Given the description of an element on the screen output the (x, y) to click on. 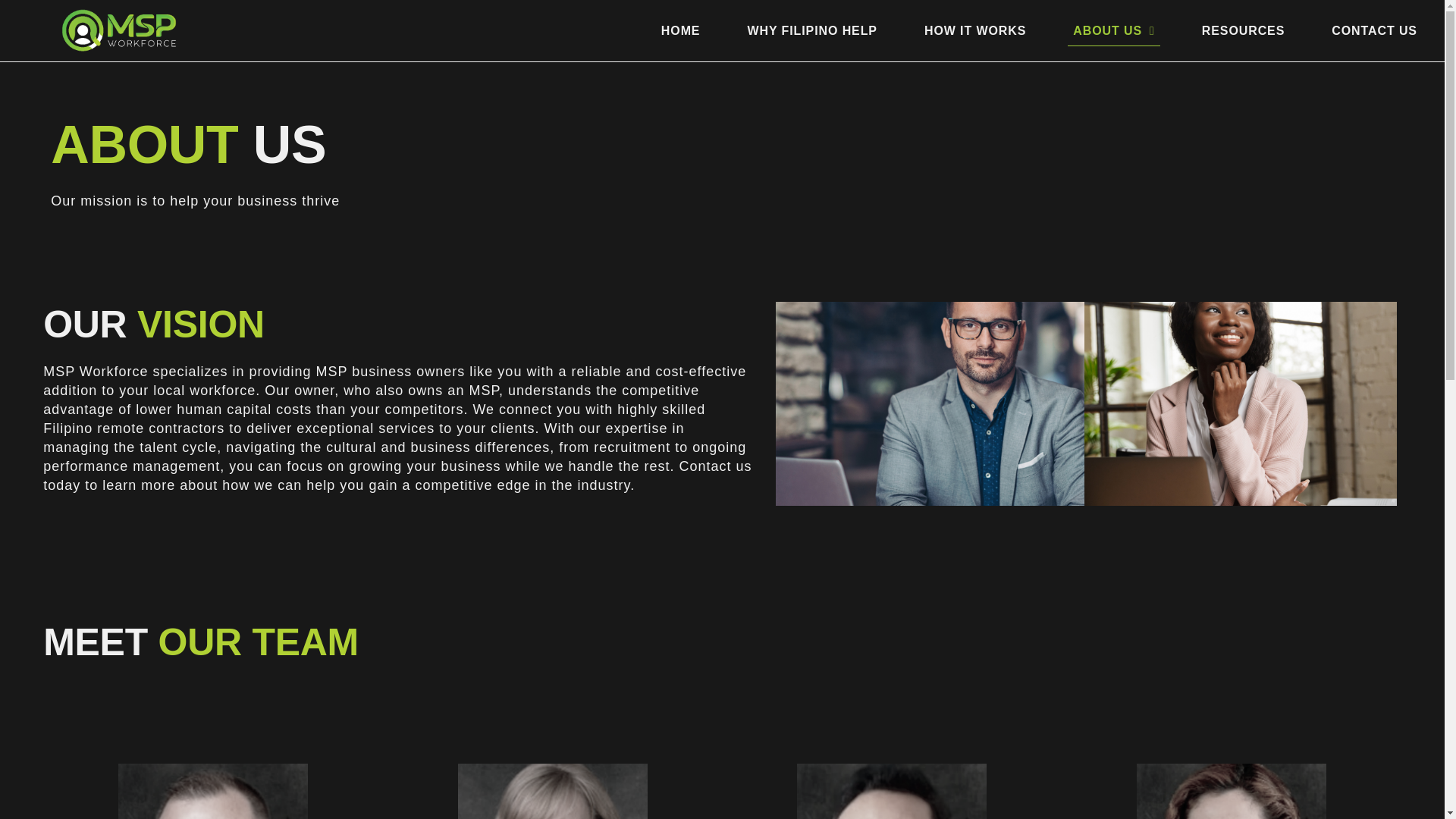
HOME (681, 30)
RESOURCES (1243, 30)
ABOUT US (1113, 30)
CONTACT US (1374, 30)
HOW IT WORKS (974, 30)
WHY FILIPINO HELP (811, 30)
